Given the description of an element on the screen output the (x, y) to click on. 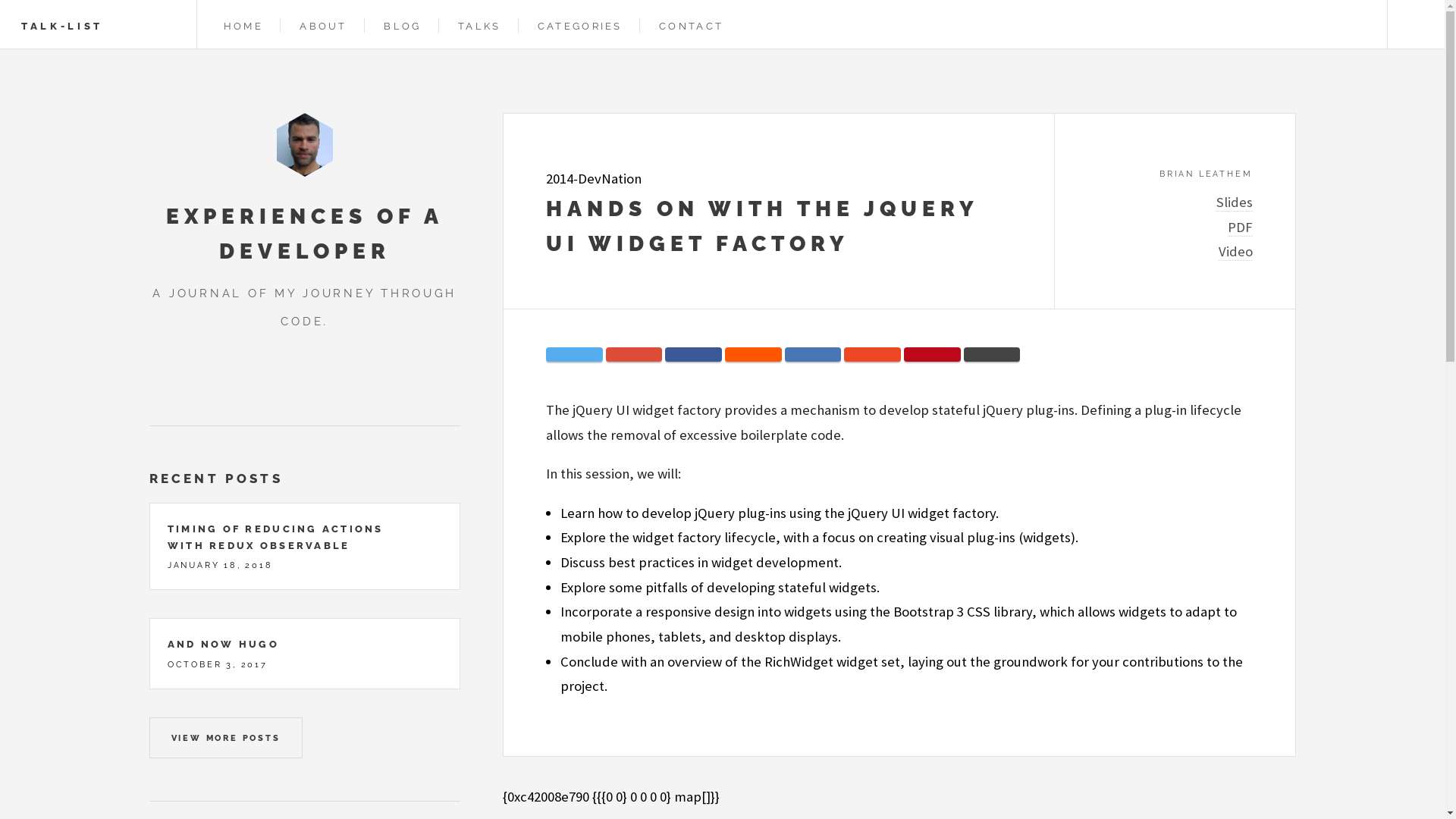
 HOME Element type: text (240, 25)
Search Element type: text (1415, 24)
TALK-LIST Element type: text (62, 25)
Slides Element type: text (1234, 202)
HANDS ON WITH THE JQUERY UI WIDGET FACTORY Element type: text (762, 226)
Video Element type: text (1234, 251)
 BLOG Element type: text (399, 25)
VIEW MORE POSTS Element type: text (224, 737)
 ABOUT Element type: text (320, 25)
 TALKS Element type: text (477, 25)
PDF Element type: text (1239, 227)
 CONTACT Element type: text (688, 25)
AND NOW HUGO Element type: text (223, 643)
TIMING OF REDUCING ACTIONS WITH REDUX OBSERVABLE Element type: text (275, 537)
 CATEGORIES Element type: text (577, 25)
